Given the description of an element on the screen output the (x, y) to click on. 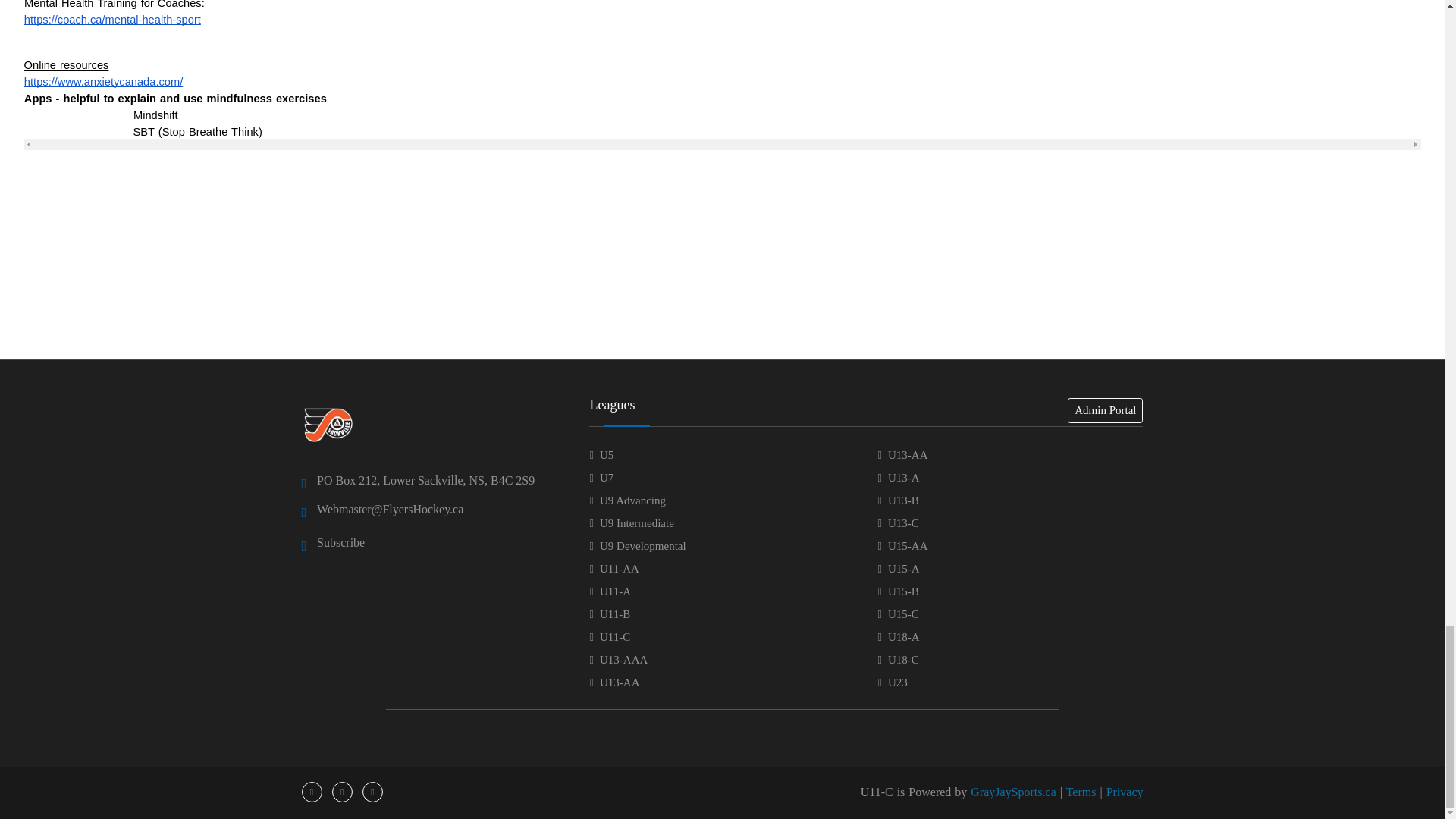
Instagram (371, 791)
Advertisement (721, 291)
Twitter (342, 791)
Facebook (310, 791)
